Given the description of an element on the screen output the (x, y) to click on. 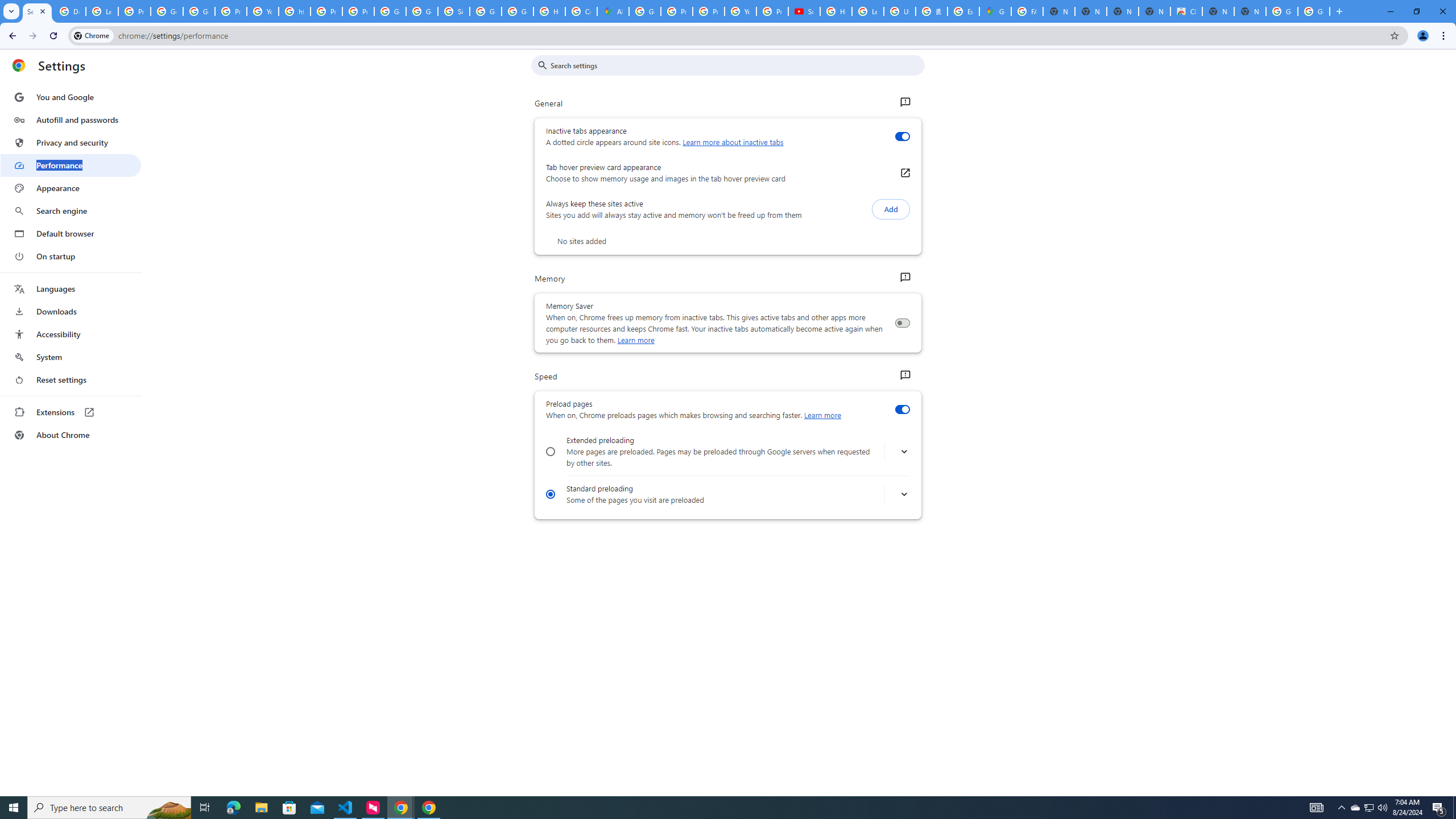
Search settings (735, 65)
Languages (70, 288)
https://scholar.google.com/ (294, 11)
Create your Google Account (581, 11)
 More info about turning on standard preloading (903, 494)
Privacy Help Center - Policies Help (326, 11)
 More info about turning on extended preloading (903, 451)
Google Images (1281, 11)
Inactive tabs appearance (901, 136)
Extensions (70, 412)
Google Account Help (166, 11)
